Given the description of an element on the screen output the (x, y) to click on. 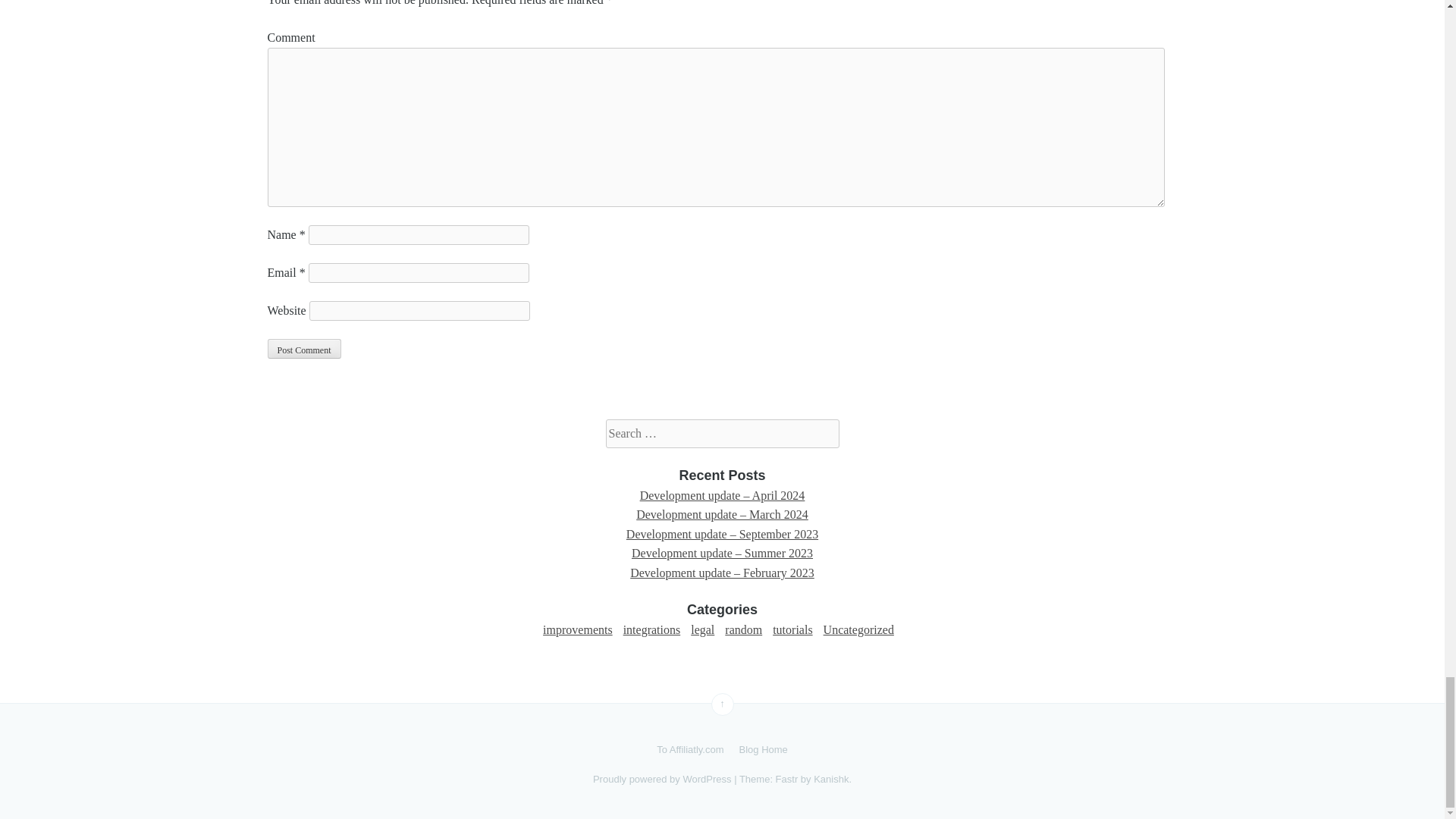
integrations (652, 629)
Post Comment (303, 348)
tutorials (792, 629)
Blog Home (763, 750)
improvements (577, 629)
WordPress (706, 778)
To Affiliatly.com (689, 750)
random (743, 629)
Post Comment (303, 348)
Kanishk (830, 778)
